Given the description of an element on the screen output the (x, y) to click on. 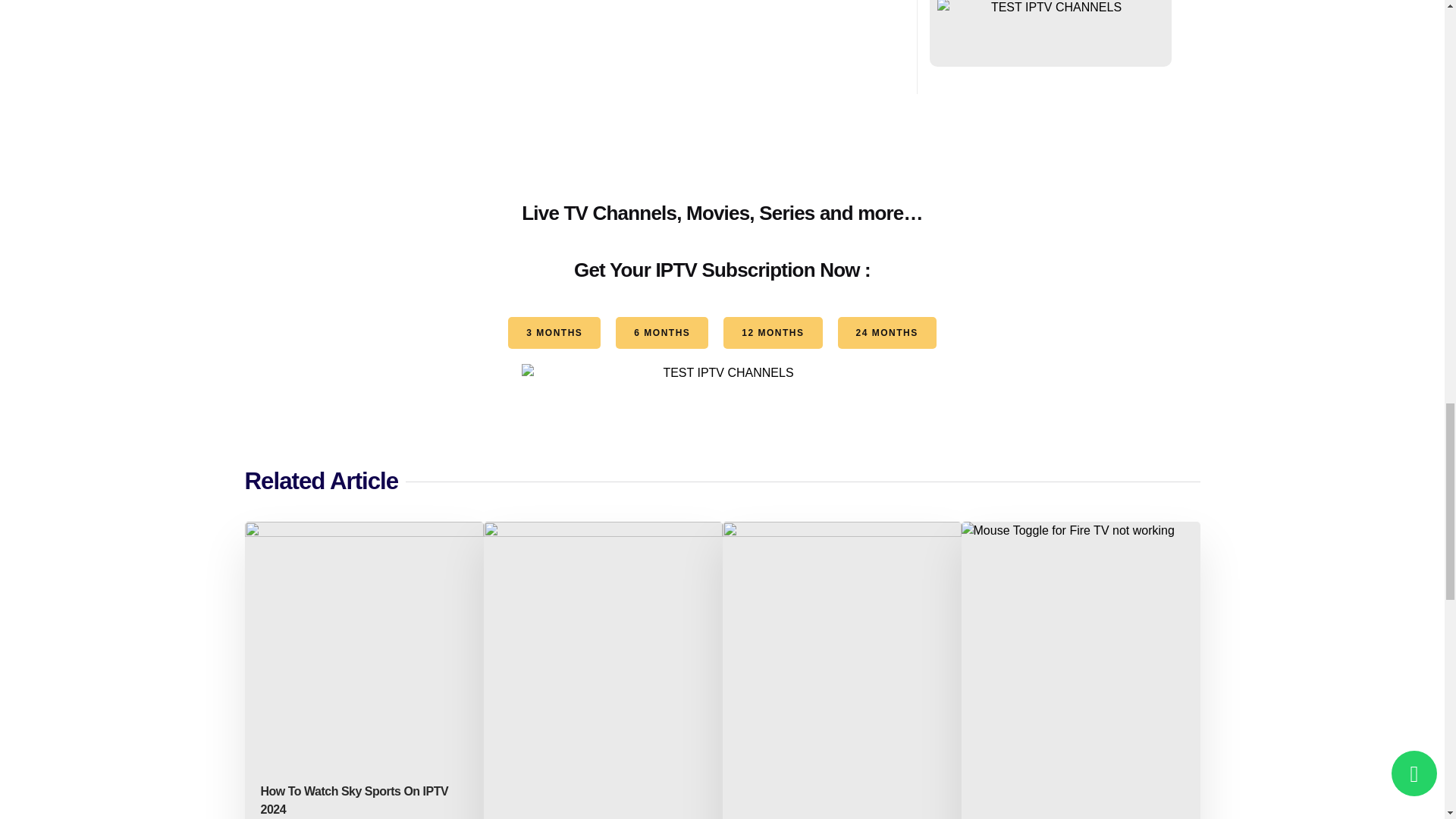
6 MONTHS (661, 332)
12 MONTHS (772, 332)
3 MONTHS (553, 332)
